Given the description of an element on the screen output the (x, y) to click on. 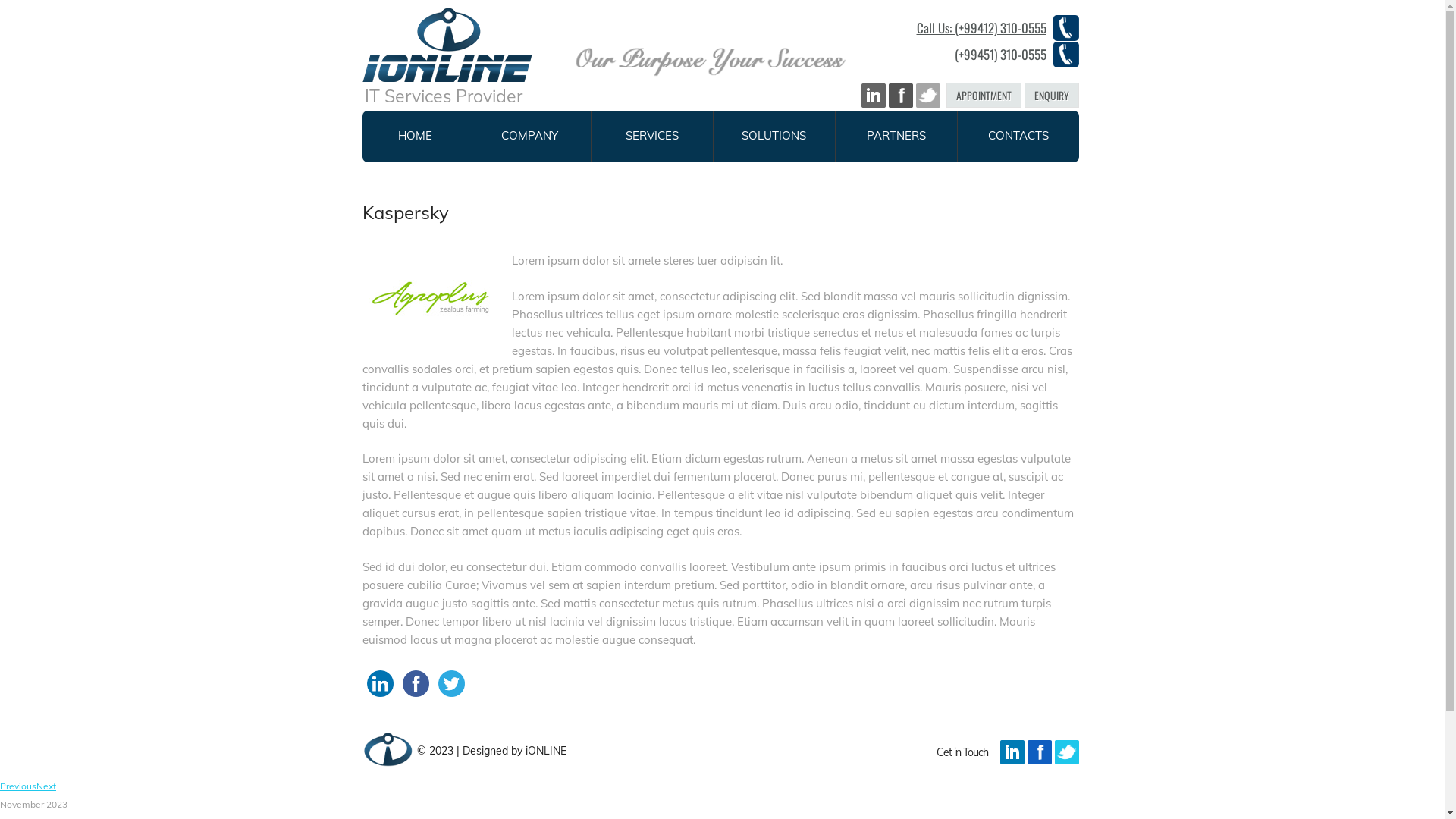
APPOINTMENT Element type: text (983, 94)
LinkedIn Element type: hover (380, 683)
Baku, Azerbaijan Element type: hover (387, 741)
(+99451) 310-0555 Element type: text (986, 54)
Previous Element type: text (18, 785)
Facebook Element type: hover (415, 683)
Call Us: (+99412) 310-0555 Element type: text (986, 28)
COMPANY Element type: text (528, 136)
ENQUIRY Element type: text (1050, 94)
SERVICES Element type: text (651, 136)
SOLUTIONS Element type: text (773, 136)
PARTNERS Element type: text (896, 136)
Twitter Element type: hover (451, 683)
HOME Element type: text (415, 136)
Next Element type: text (46, 785)
Baku, Azerbaijan Element type: hover (446, 44)
CONTACTS Element type: text (1017, 136)
